Given the description of an element on the screen output the (x, y) to click on. 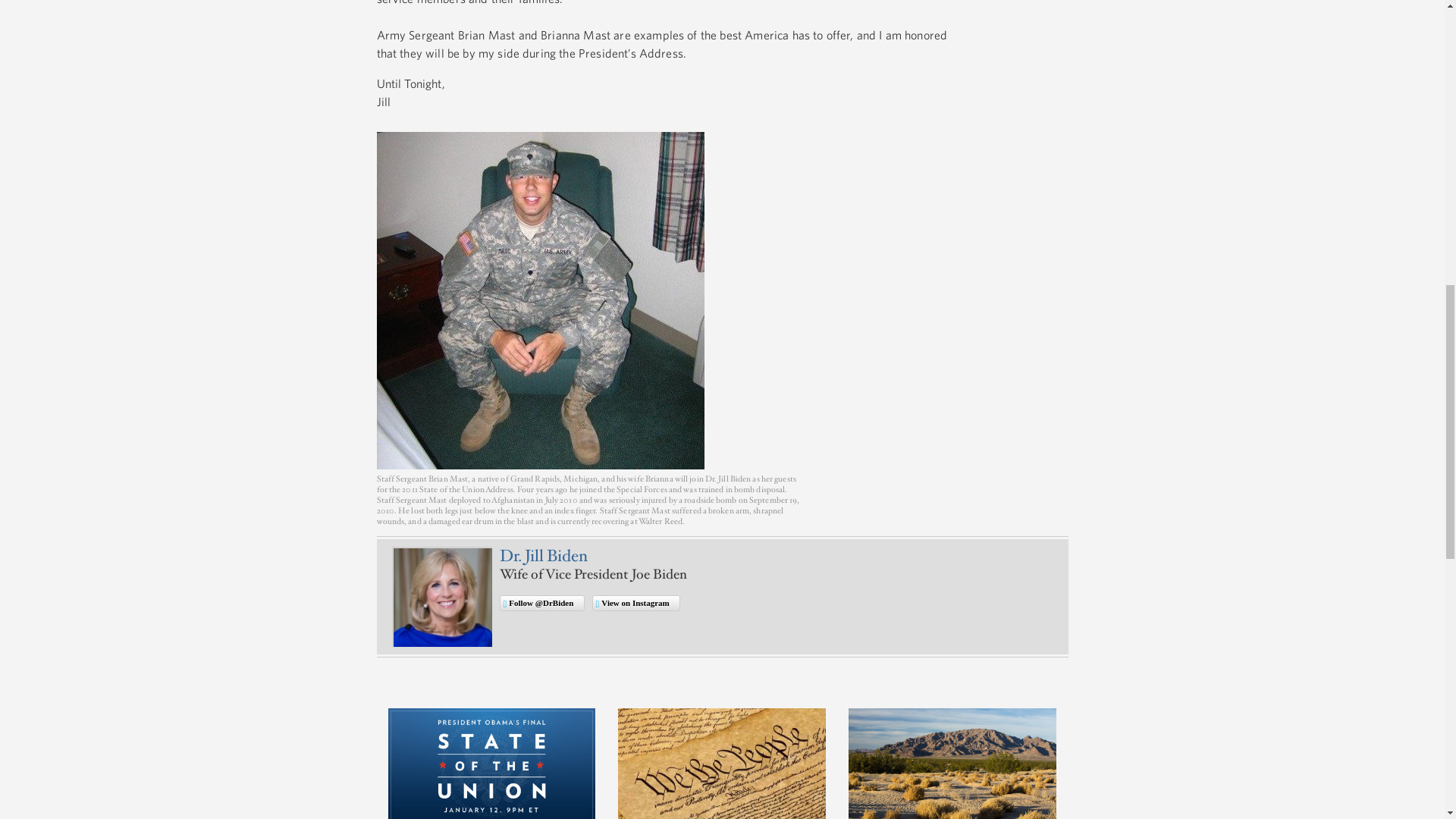
Staff Sergeant Brian Mast (539, 300)
View DrBiden on Instagram (635, 603)
